Given the description of an element on the screen output the (x, y) to click on. 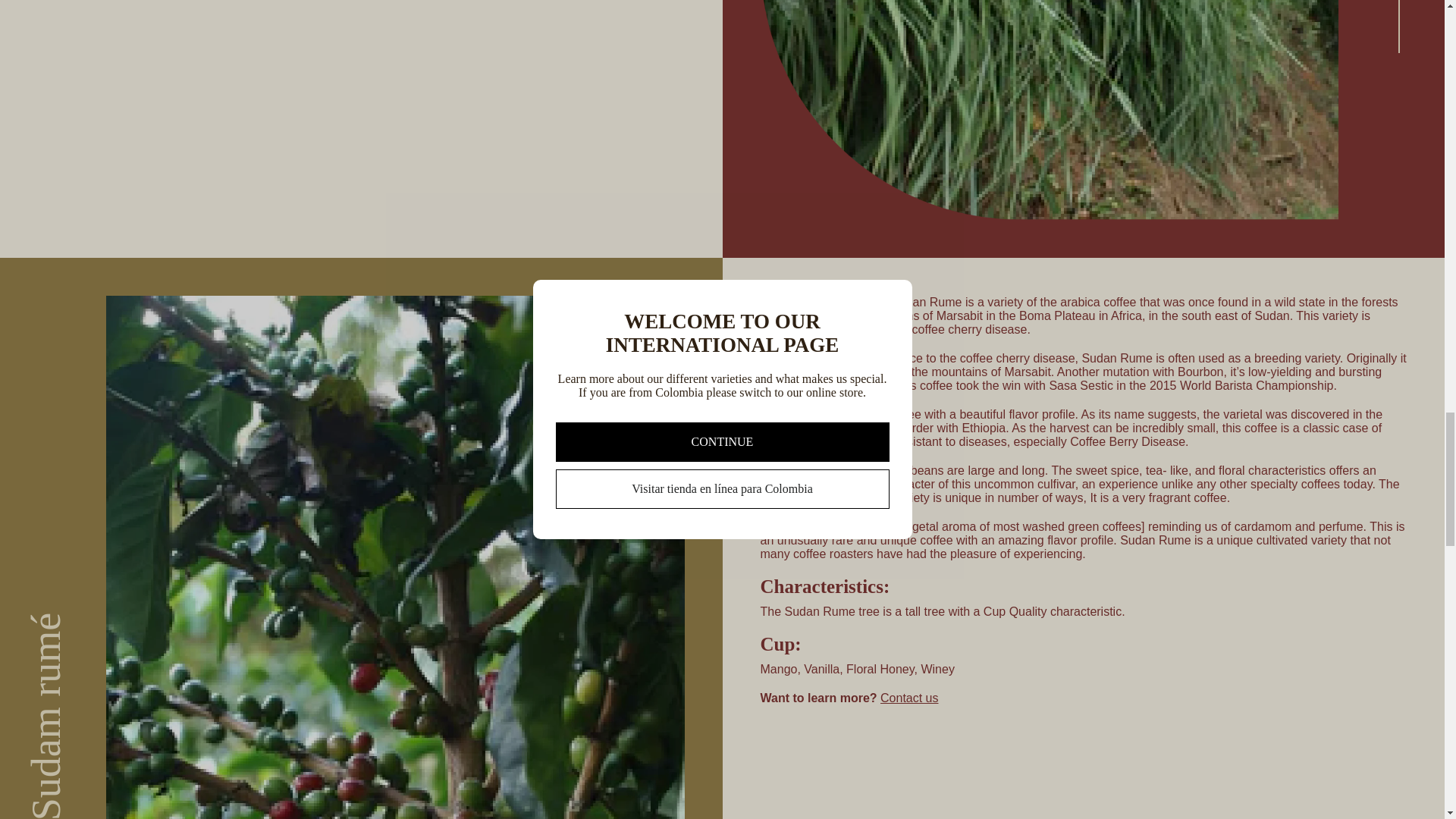
Contact Us (908, 697)
Contact us (908, 697)
